Given the description of an element on the screen output the (x, y) to click on. 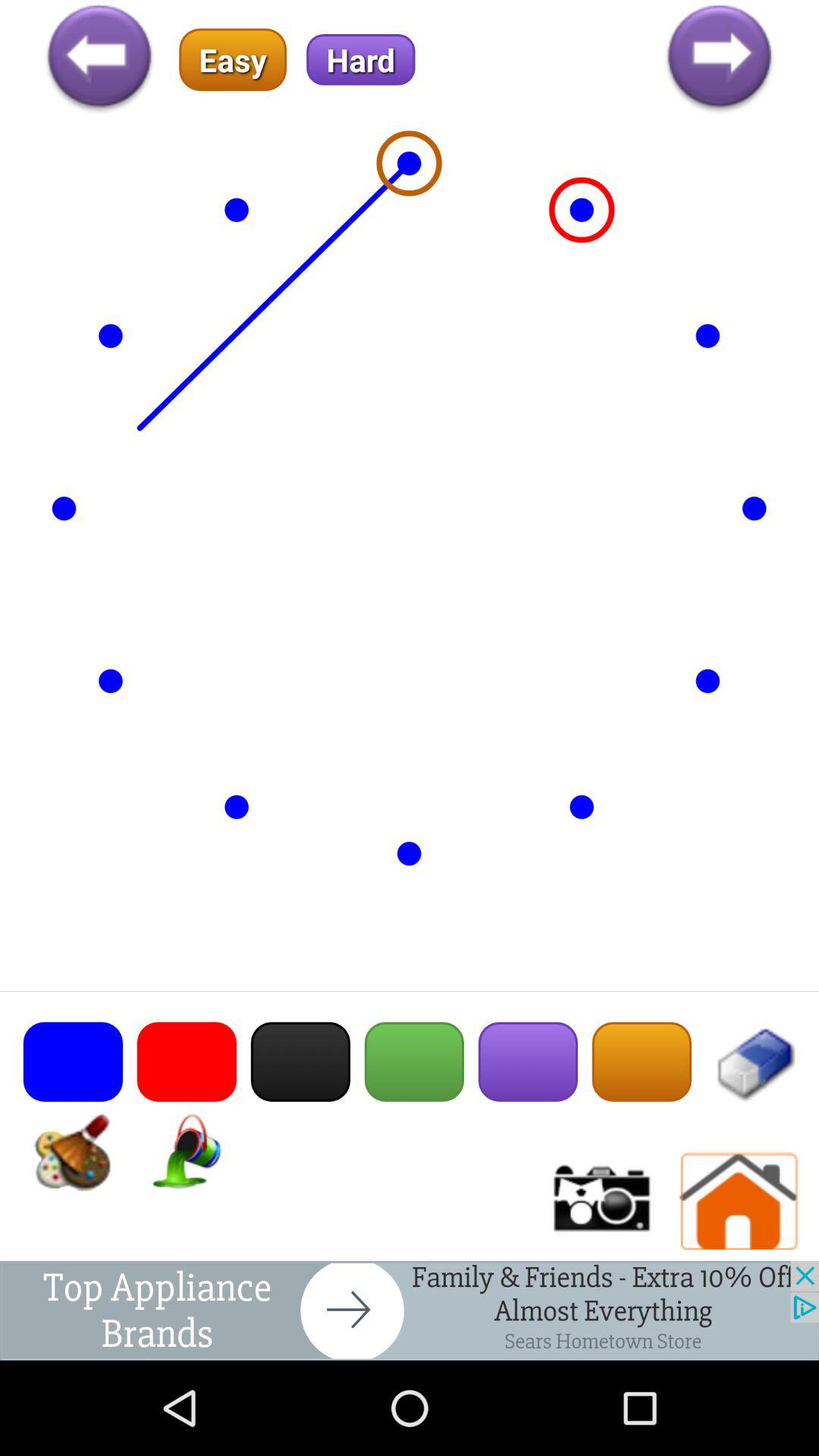
go to forward (719, 59)
